Given the description of an element on the screen output the (x, y) to click on. 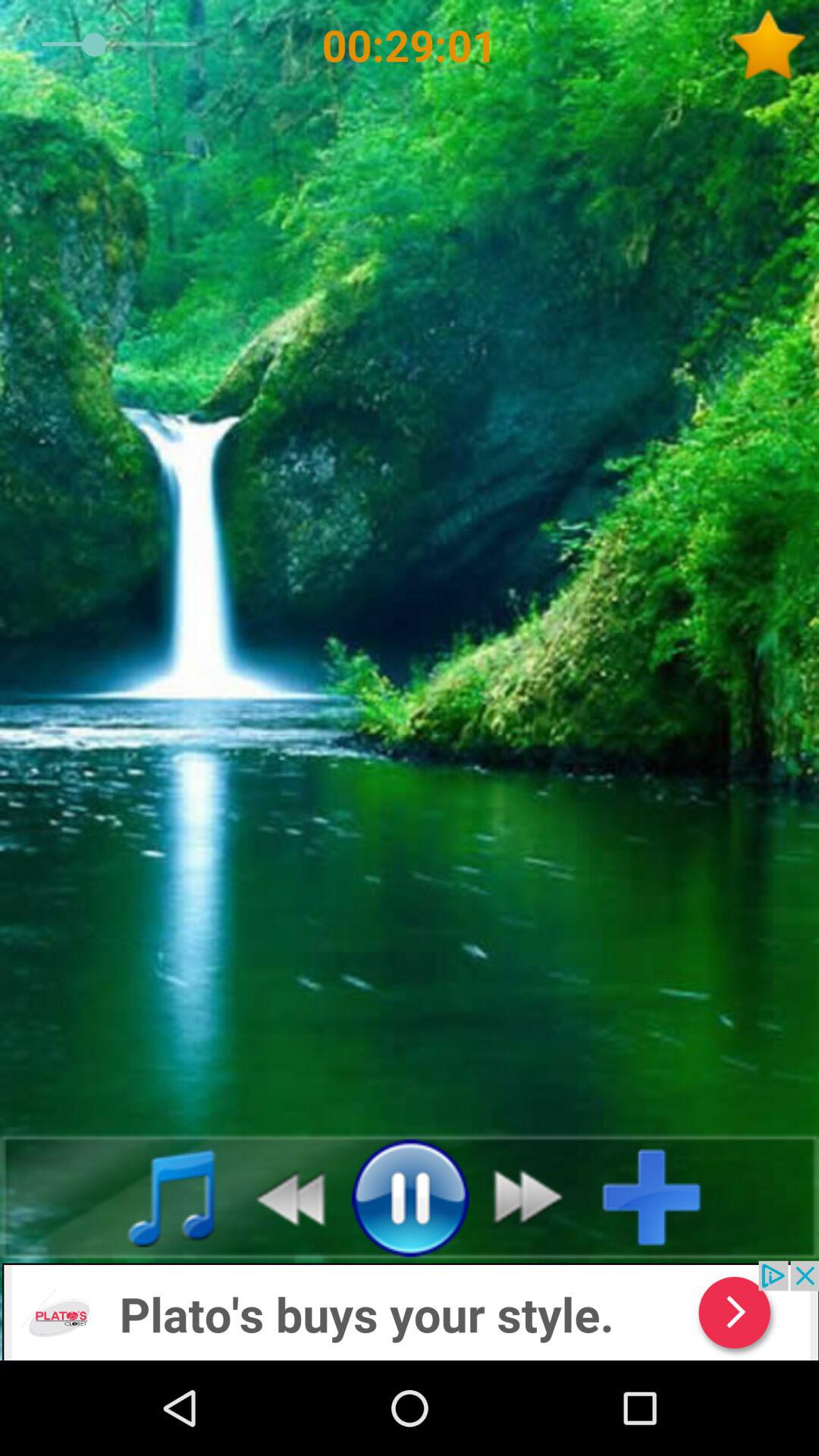
add your music here (664, 1196)
